Given the description of an element on the screen output the (x, y) to click on. 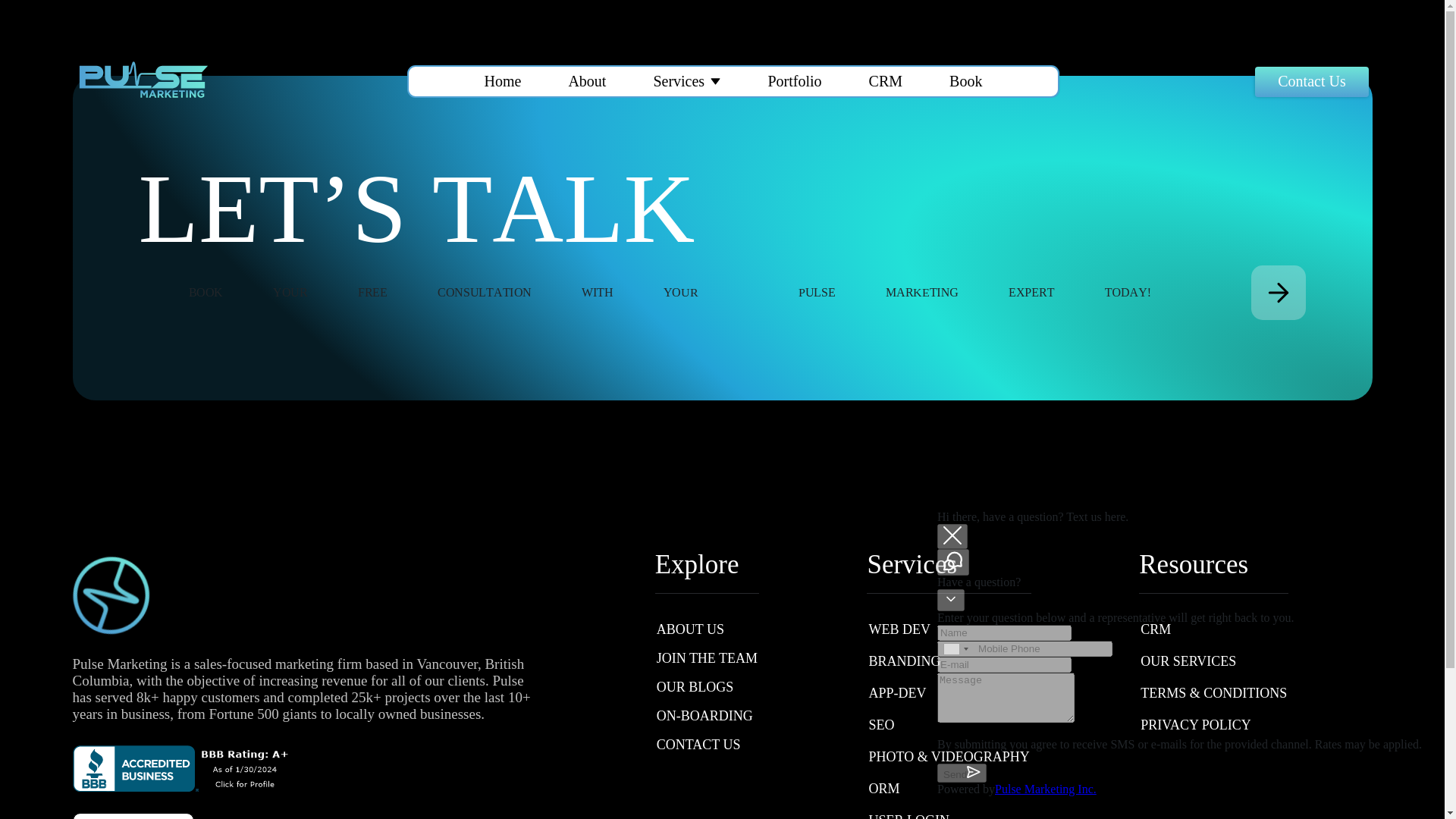
Portfolio (794, 81)
About (586, 81)
CRM (885, 81)
Explore (706, 564)
Home (502, 81)
Contact Us (1311, 81)
Book (965, 81)
Services (678, 81)
